Given the description of an element on the screen output the (x, y) to click on. 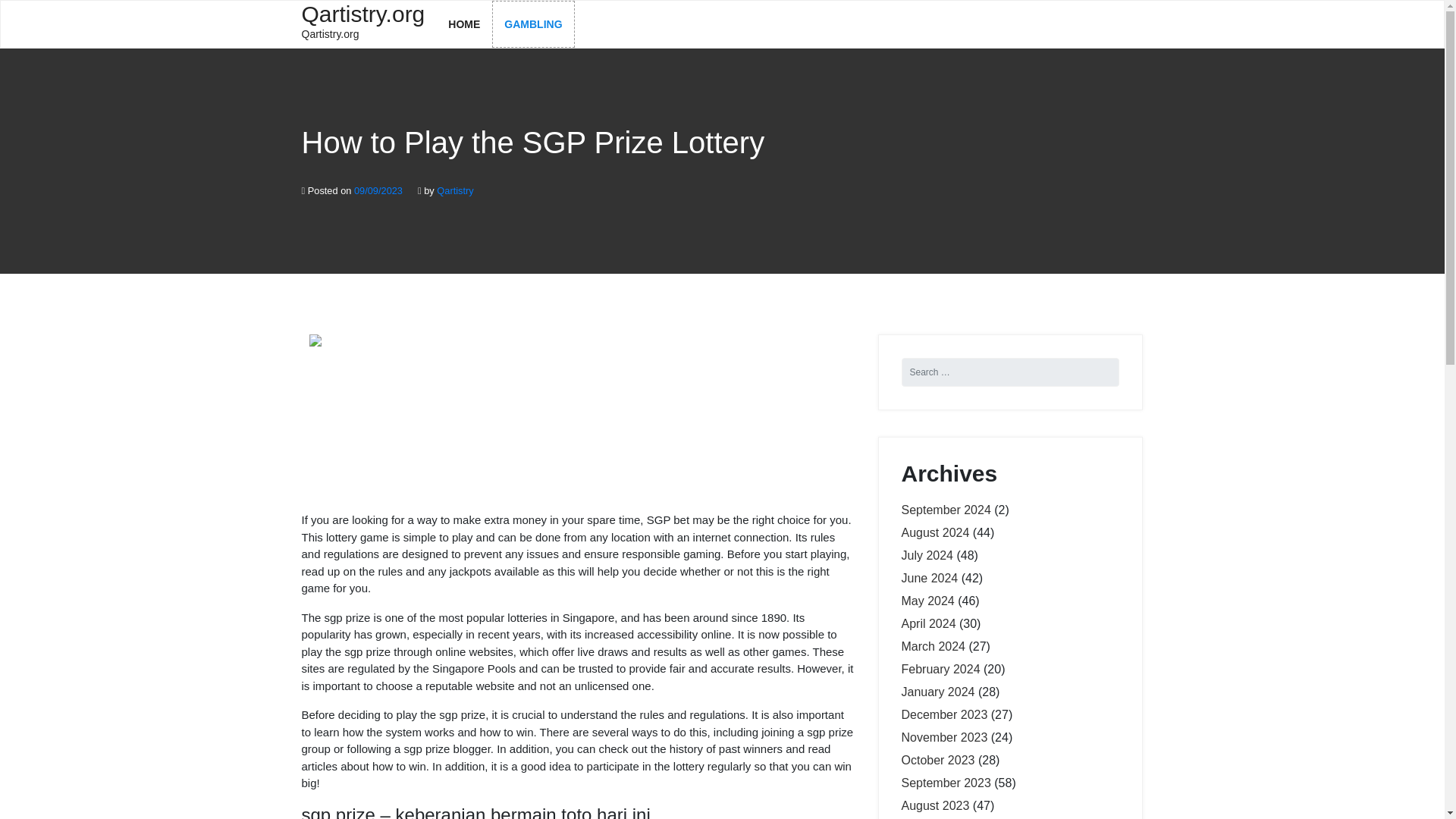
January 2024 (937, 691)
GAMBLING (532, 23)
December 2023 (944, 714)
June 2024 (363, 22)
September 2024 (929, 577)
HOME (945, 509)
April 2024 (463, 23)
May 2024 (928, 623)
August 2024 (927, 600)
